Given the description of an element on the screen output the (x, y) to click on. 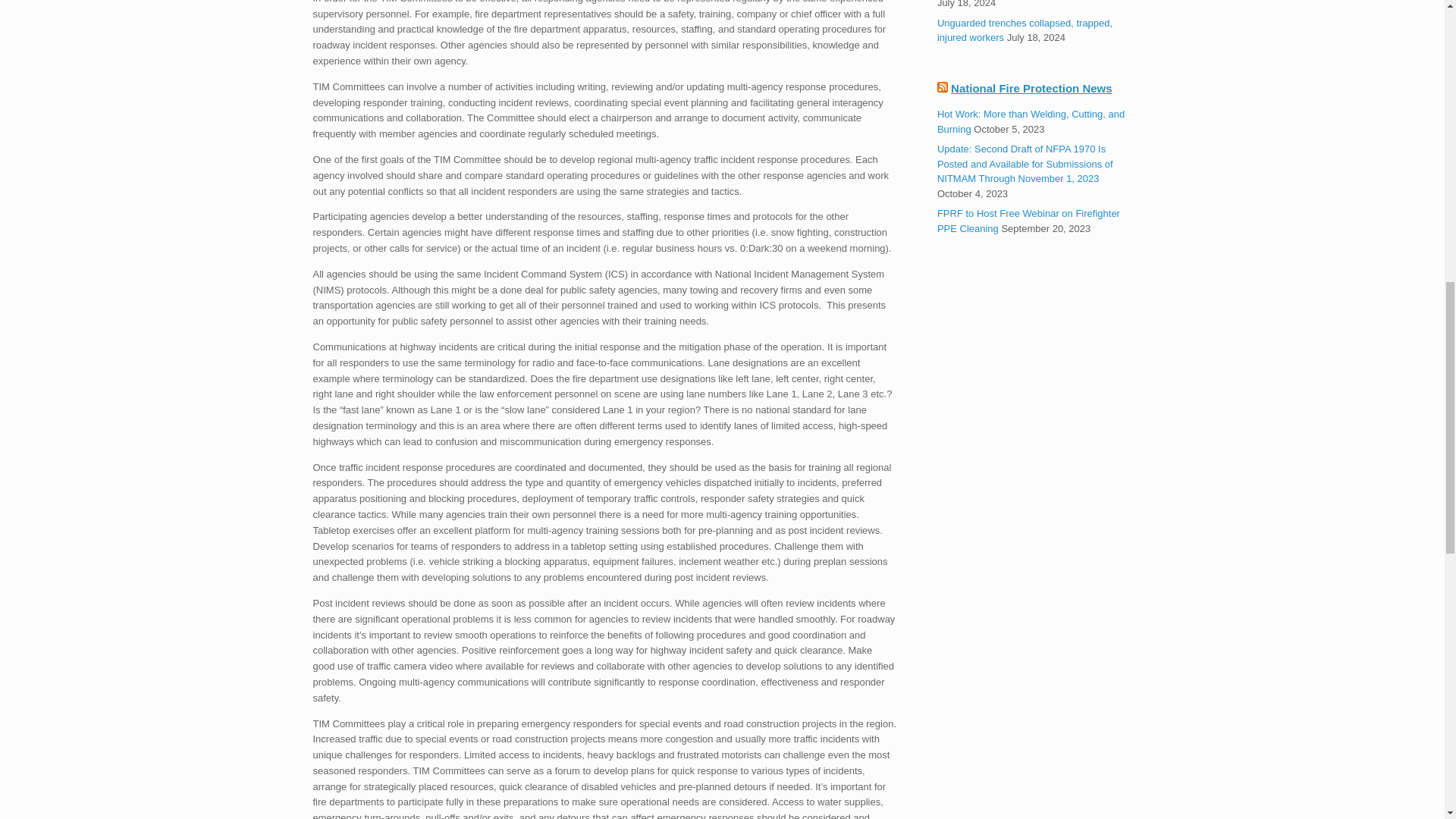
Hot Work: More than Welding, Cutting, and Burning (1030, 121)
Unguarded trenches collapsed, trapped, injured workers (1024, 29)
National Fire Protection News (1031, 88)
FPRF to Host Free Webinar on Firefighter PPE Cleaning (1028, 221)
